Given the description of an element on the screen output the (x, y) to click on. 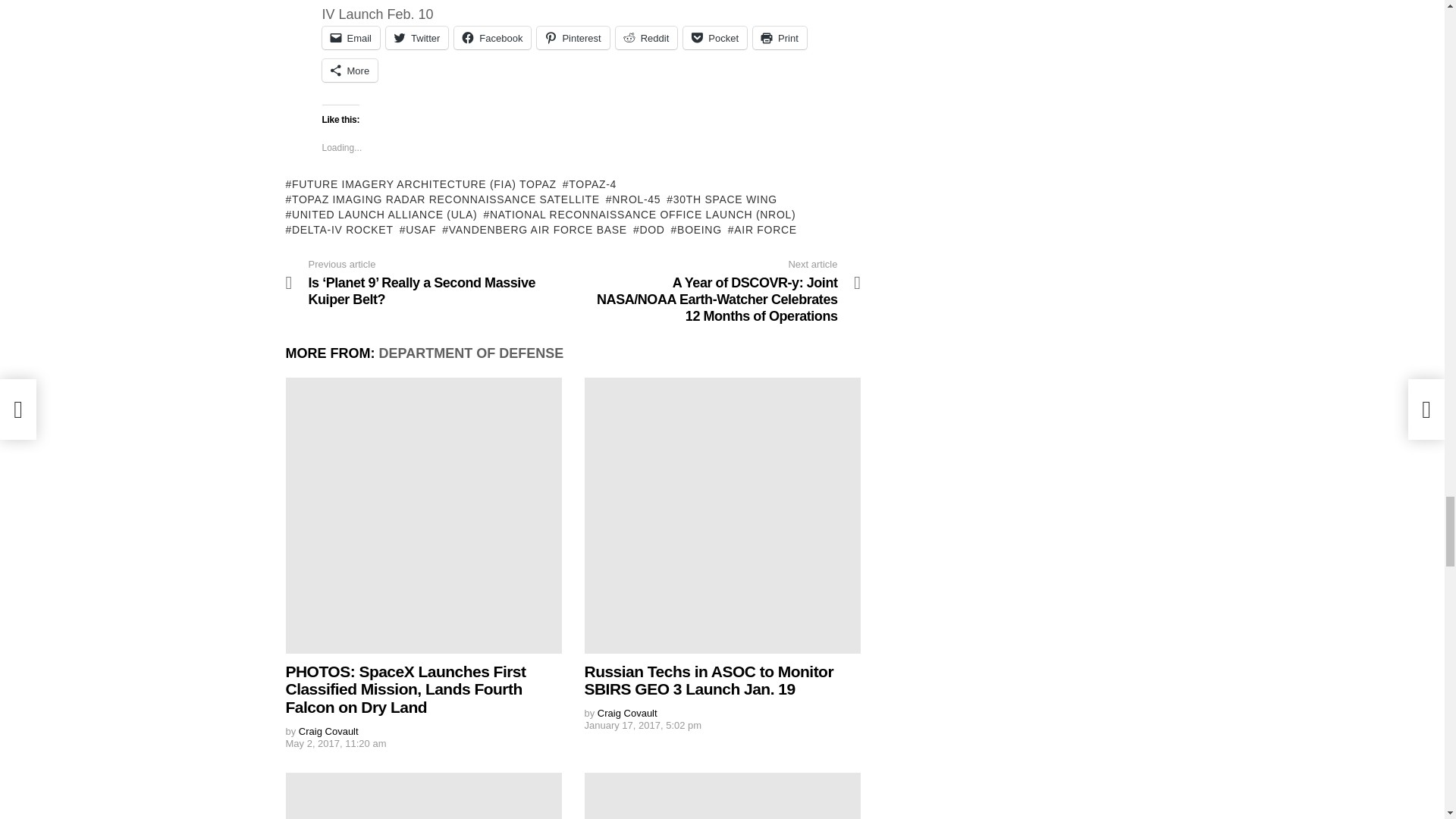
Click to email a link to a friend (350, 37)
Click to share on Pocket (714, 37)
Click to share on Reddit (646, 37)
Click to share on Facebook (492, 37)
Click to share on Pinterest (572, 37)
Click to share on Twitter (416, 37)
Click to print (779, 37)
